Given the description of an element on the screen output the (x, y) to click on. 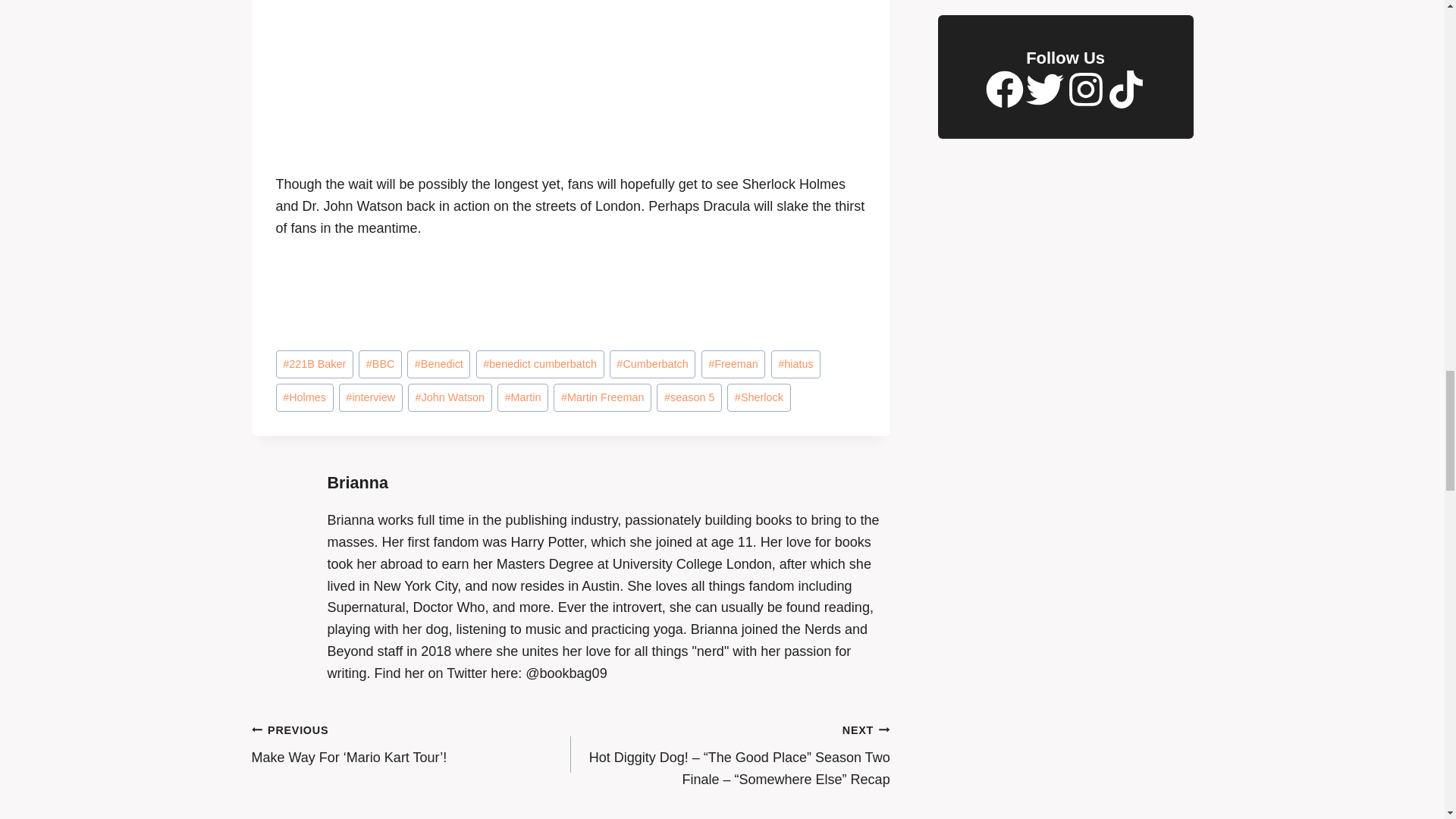
hiatus (796, 364)
Martin (522, 397)
BBC (379, 364)
Benedict (438, 364)
John Watson (449, 397)
Martin Freeman (601, 397)
season 5 (689, 397)
Cumberbatch (652, 364)
Freeman (733, 364)
interview (371, 397)
benedict cumberbatch (540, 364)
Holmes (304, 397)
221B Baker (314, 364)
